Given the description of an element on the screen output the (x, y) to click on. 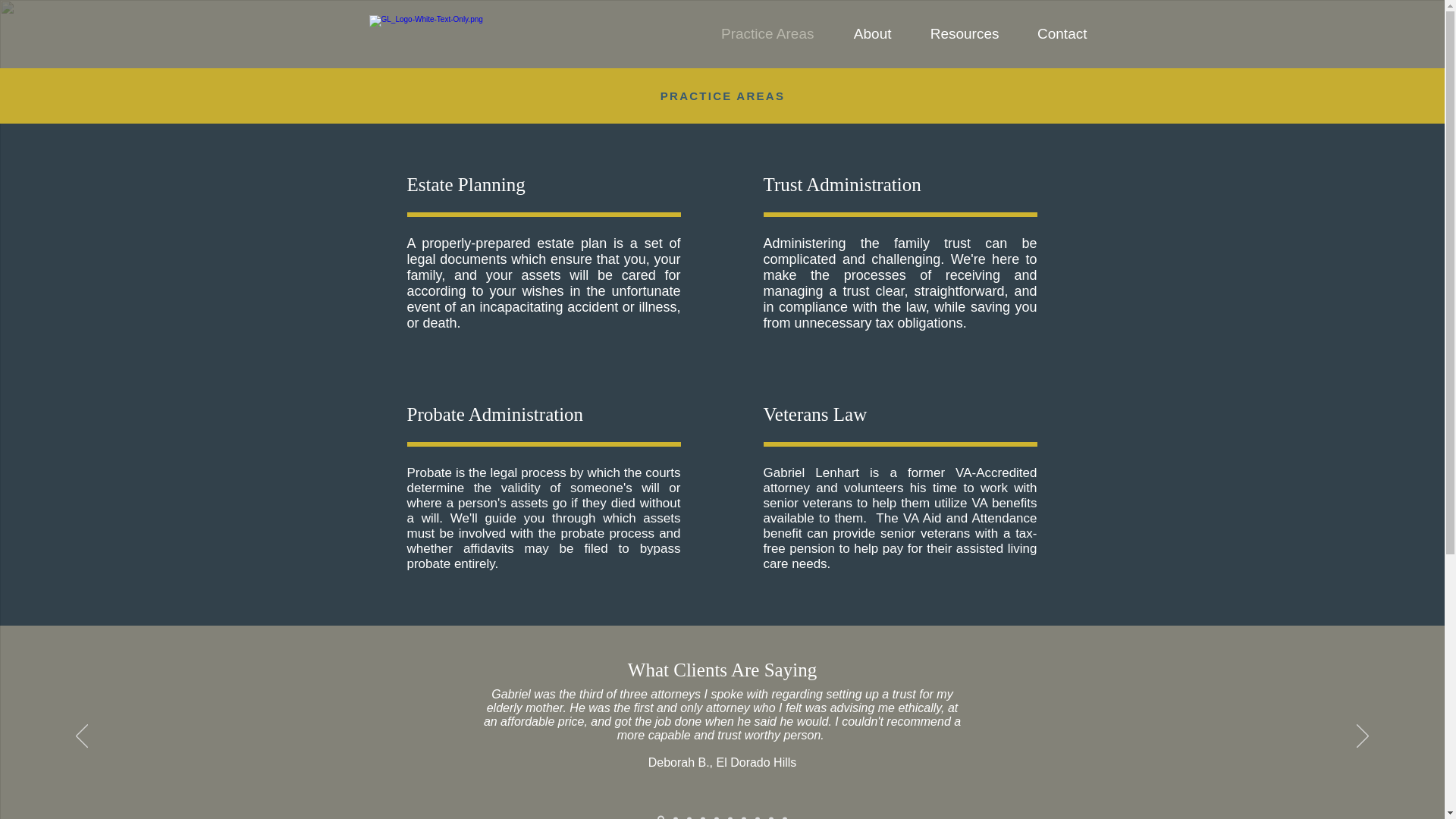
Practice Areas (756, 33)
Contact (1050, 33)
Resources (953, 33)
About (860, 33)
